Given the description of an element on the screen output the (x, y) to click on. 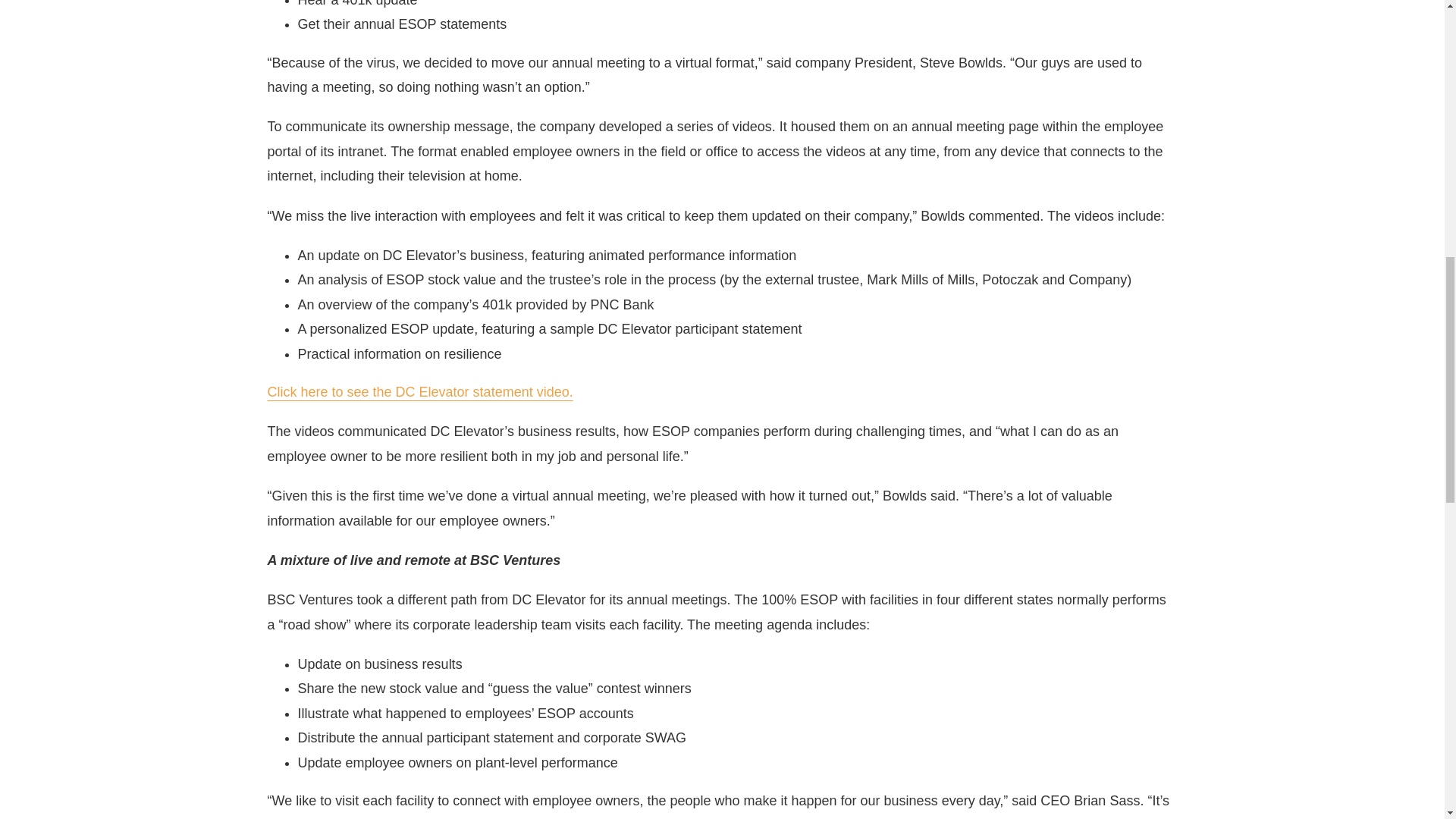
Click here to see the DC Elevator statement video. (419, 391)
